Given the description of an element on the screen output the (x, y) to click on. 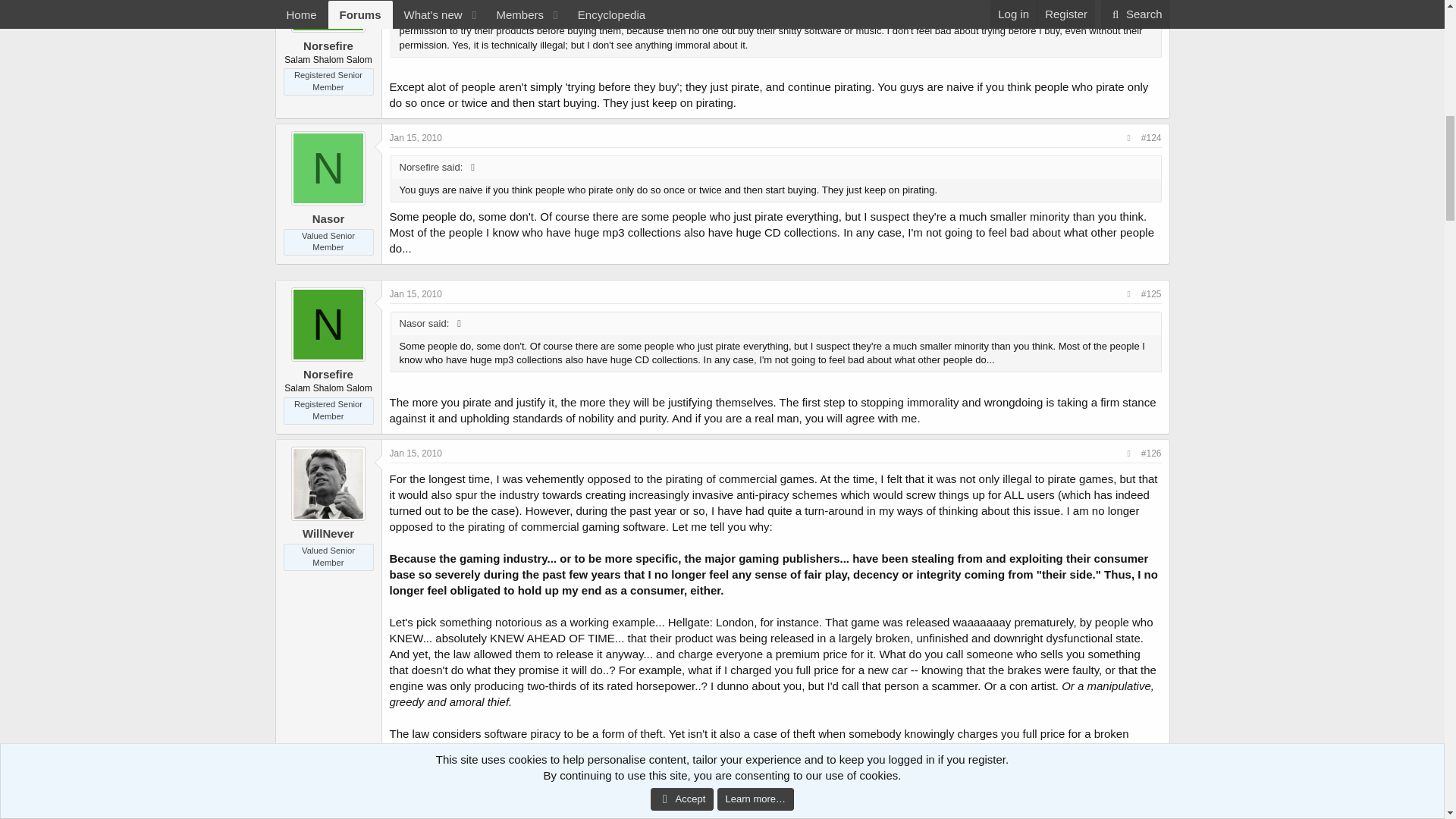
Jan 15, 2010 at 4:39 AM (416, 294)
Jan 15, 2010 at 4:36 AM (416, 137)
Jan 15, 2010 at 4:51 AM (416, 452)
